Given the description of an element on the screen output the (x, y) to click on. 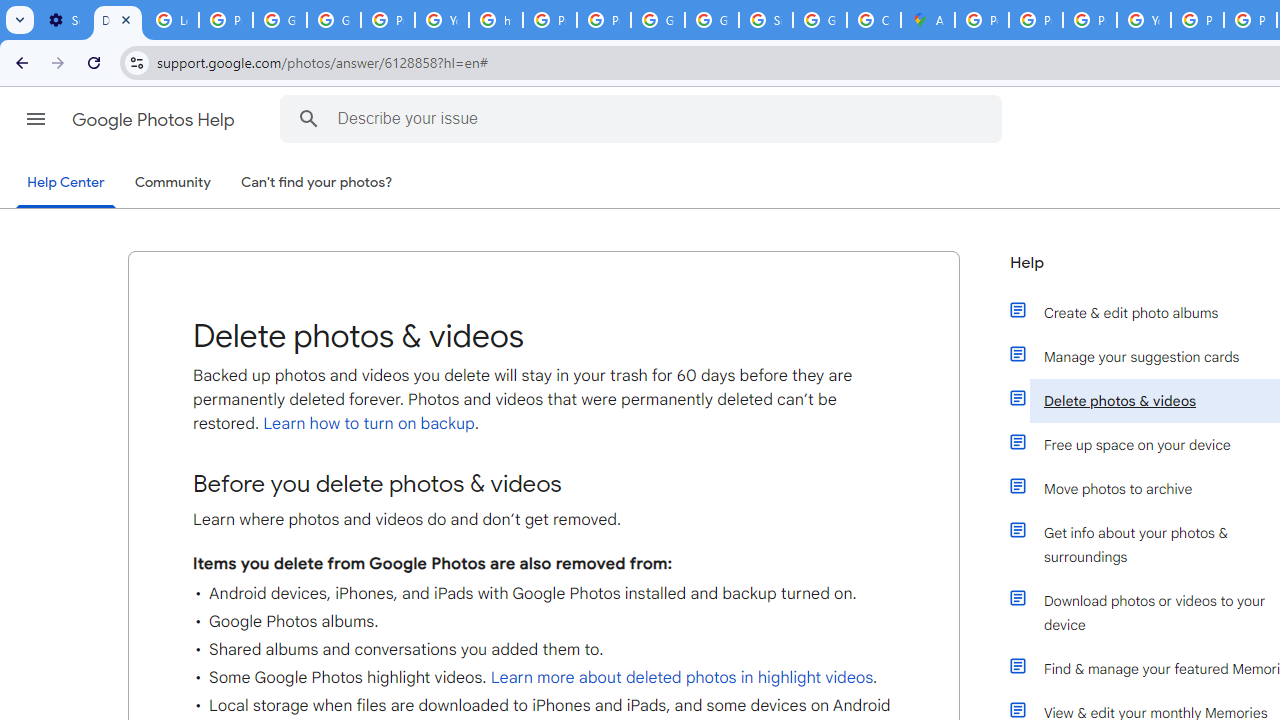
Help Center (65, 183)
Can't find your photos? (317, 183)
Main menu (35, 119)
Privacy Help Center - Policies Help (1089, 20)
Google Photos Help (155, 119)
Community (171, 183)
Policy Accountability and Transparency - Transparency Center (981, 20)
Delete photos & videos - Computer - Google Photos Help (117, 20)
